Given the description of an element on the screen output the (x, y) to click on. 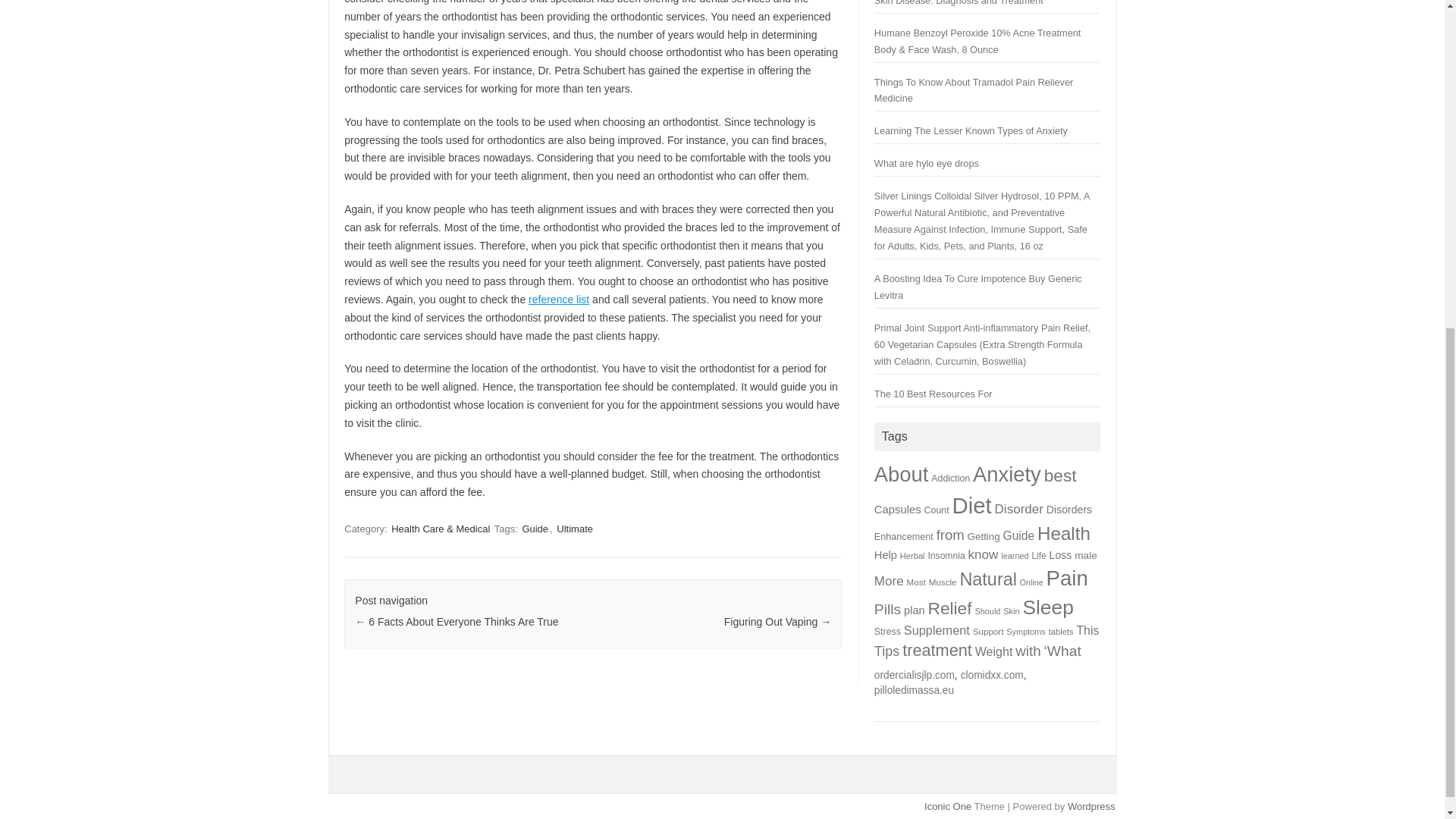
Learning The Lesser Known Types of Anxiety (971, 130)
Disorders (1069, 509)
best (1060, 475)
reference list (558, 299)
Things To Know About Tramadol Pain Reliever Medicine (974, 90)
Count (936, 510)
Getting (984, 536)
Anxiety (1006, 474)
Enhancement (904, 536)
About (901, 474)
The 10 Best Resources For (933, 393)
Addiction (950, 478)
Disorder (1018, 509)
Capsules (898, 509)
